Given the description of an element on the screen output the (x, y) to click on. 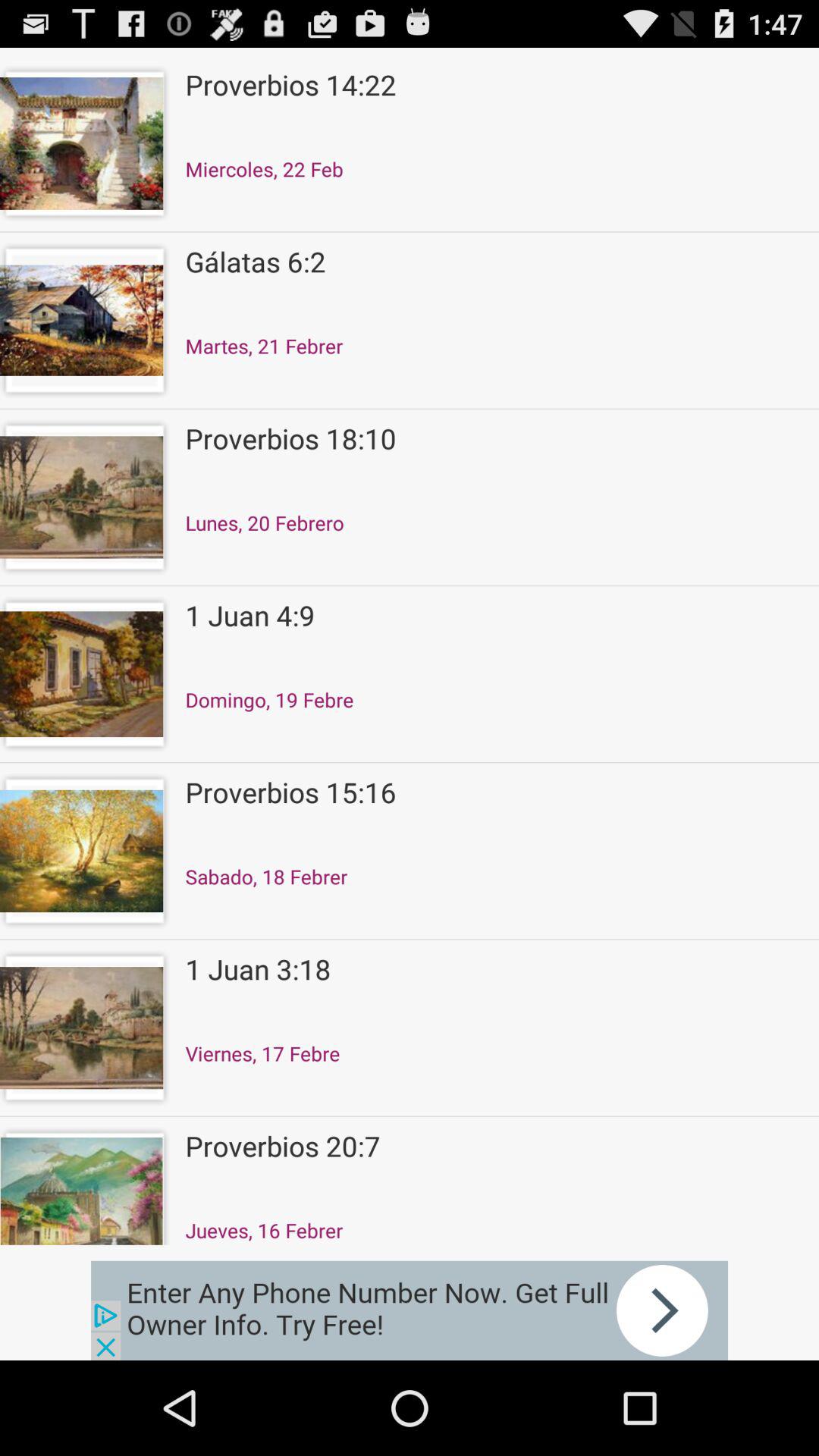
toggle advertisement (409, 1310)
